Given the description of an element on the screen output the (x, y) to click on. 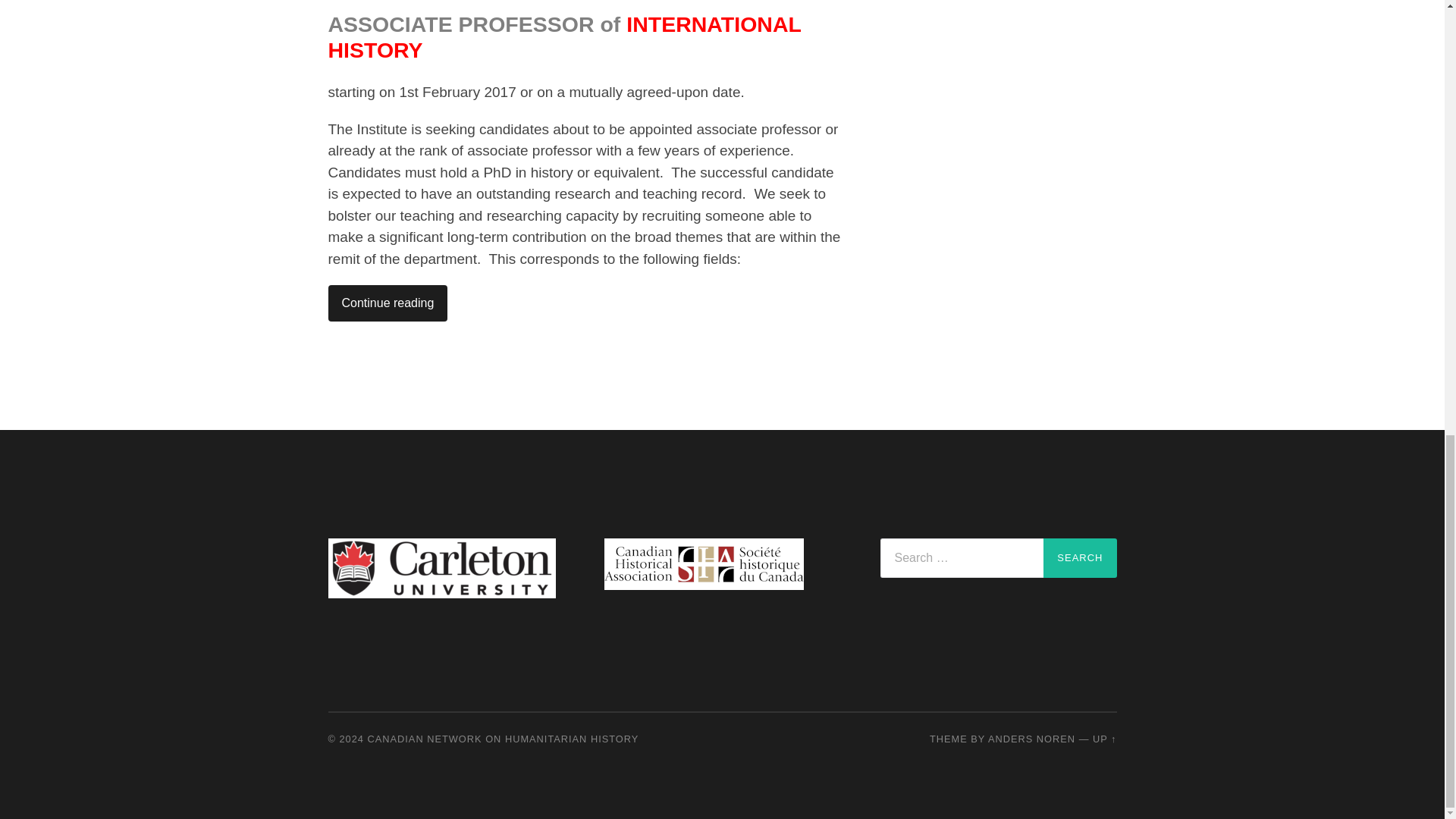
Search (1079, 558)
Search (1079, 558)
Search (1079, 558)
To the top (1104, 738)
Continue reading (386, 303)
CANADIAN NETWORK ON HUMANITARIAN HISTORY (503, 738)
